Given the description of an element on the screen output the (x, y) to click on. 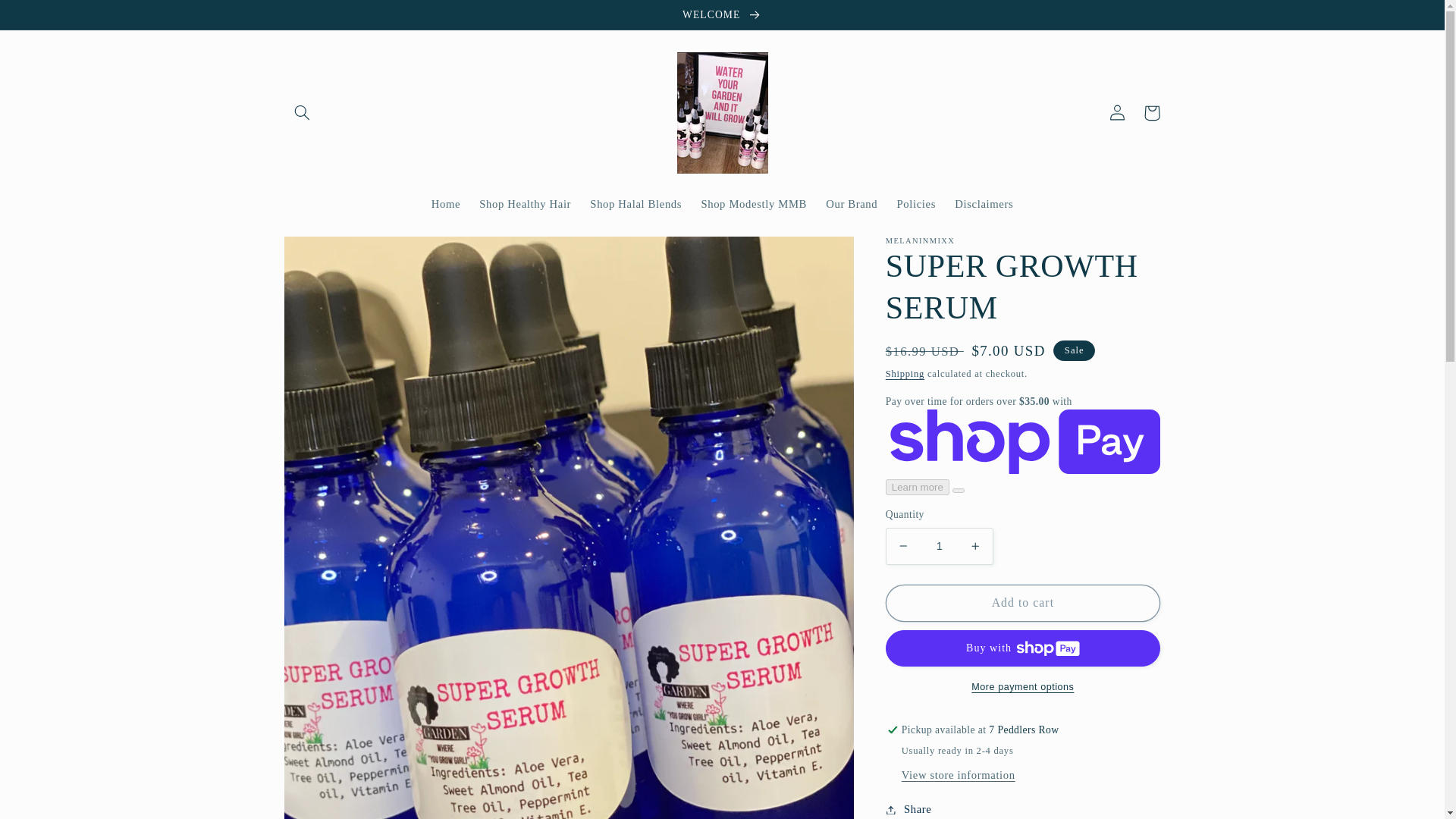
Shop Healthy Hair (525, 204)
Home (446, 204)
Disclaimers (983, 204)
Shipping (904, 373)
1 (939, 546)
Add to cart (1022, 602)
Policies (915, 204)
Log in (1116, 112)
More payment options (1022, 687)
Decrease quantity for SUPER GROWTH SERUM (903, 546)
Shop Halal Blends (635, 204)
Cart (1151, 112)
Skip to content (48, 18)
Shop Modestly MMB (753, 204)
Skip to product information (331, 253)
